Given the description of an element on the screen output the (x, y) to click on. 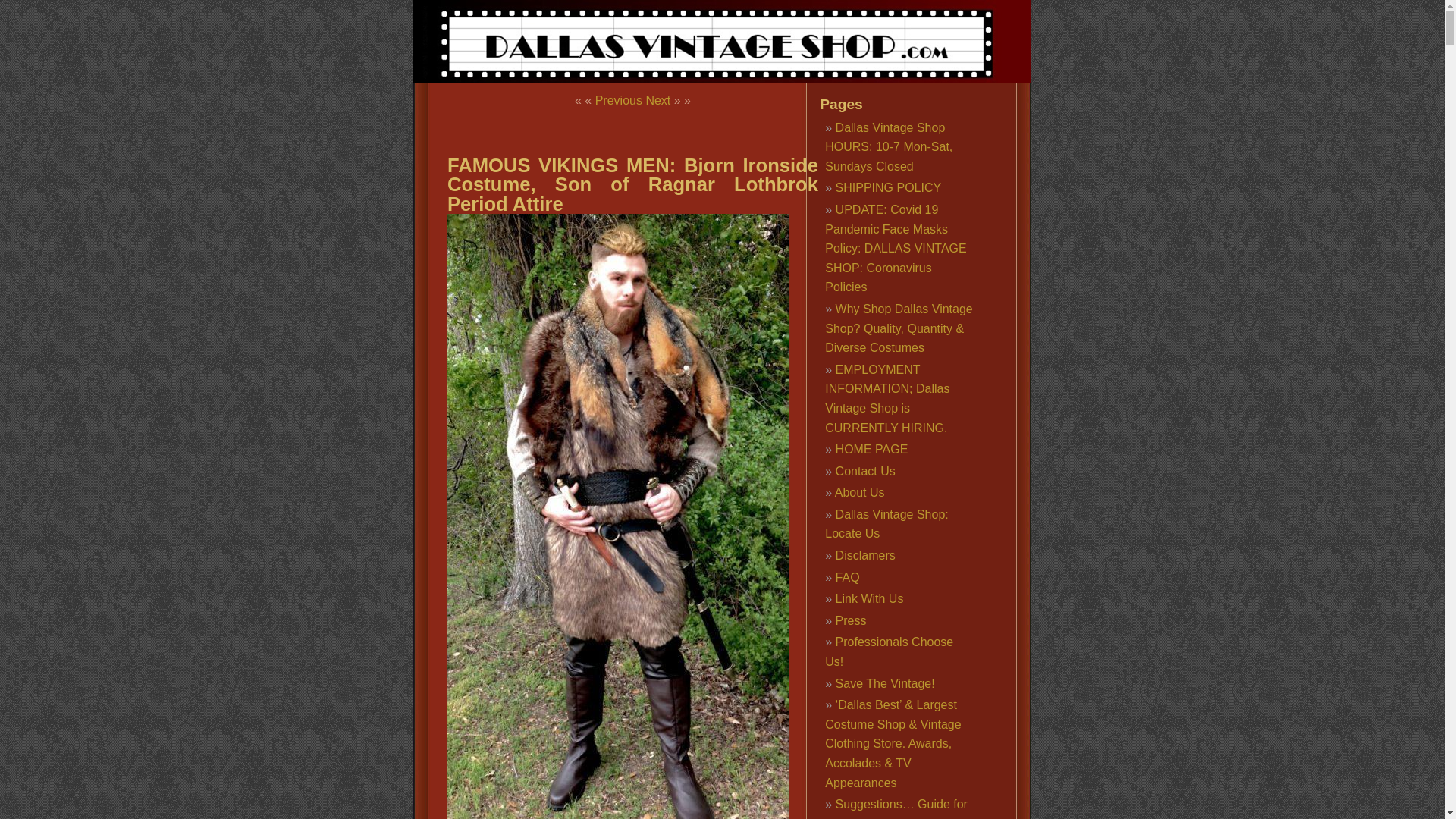
HOME PAGE (871, 449)
SHIPPING POLICY (888, 187)
Contact Us (865, 471)
About Us (859, 492)
Save The Vintage! (884, 683)
Link With Us (869, 598)
Dallas Vintage Shop: Locate Us (886, 523)
Dallas Vintage Shop HOURS: 10-7 Mon-Sat, Sundays Closed (888, 146)
Disclamers (865, 554)
